Given the description of an element on the screen output the (x, y) to click on. 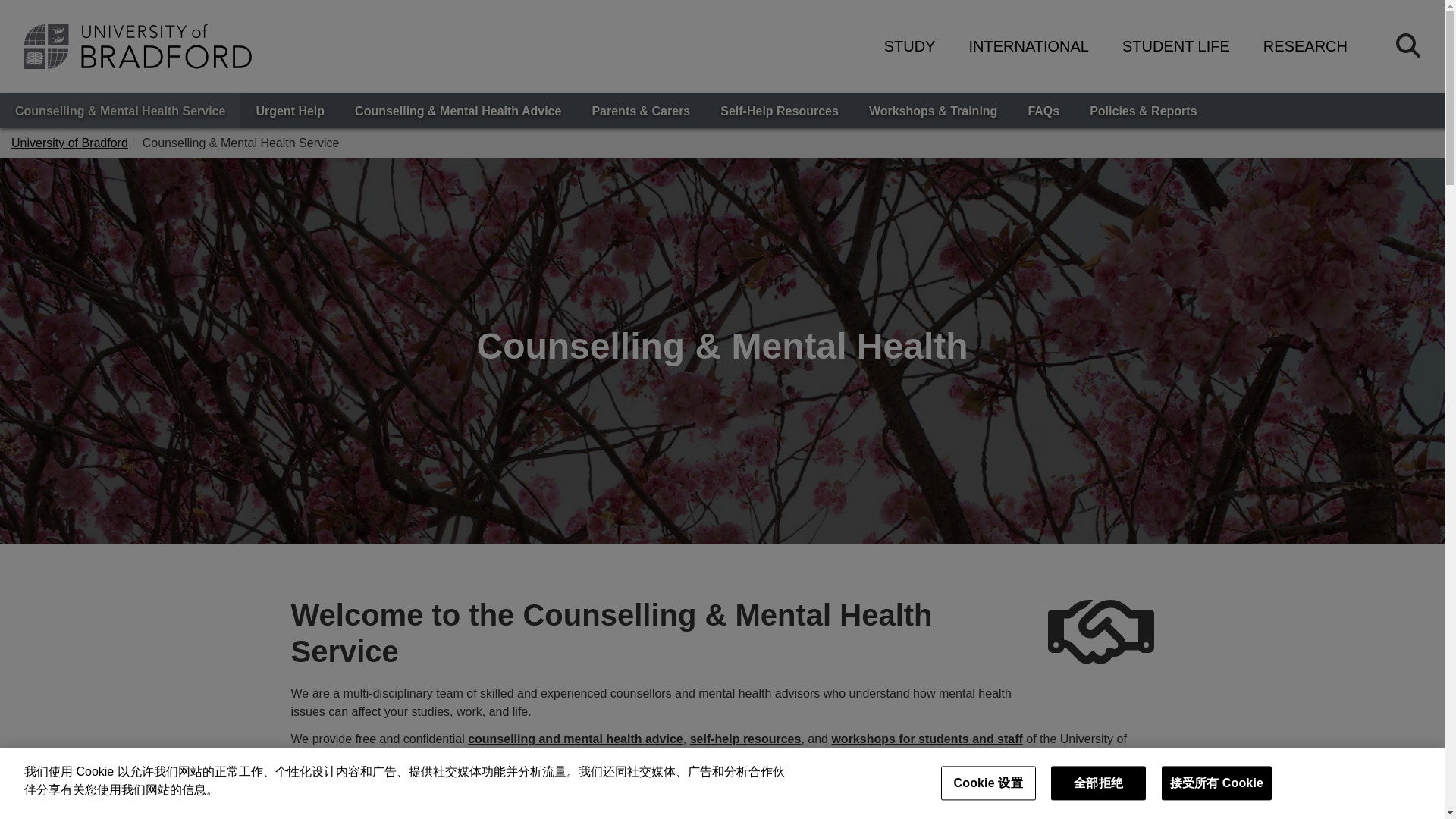
Search the University of Bradford (1408, 45)
Self-Help Resources (778, 110)
counselling and mental health advice (574, 738)
Urgent Help (289, 110)
RESEARCH (1305, 45)
STUDY (909, 45)
University of Bradford (69, 142)
NHS Bradford District and Craven Talking Therapies Service (665, 784)
self-help resources (746, 738)
FAQs (1042, 110)
workshops for students and staff (926, 738)
INTERNATIONAL (1028, 45)
STUDENT LIFE (1176, 45)
